Given the description of an element on the screen output the (x, y) to click on. 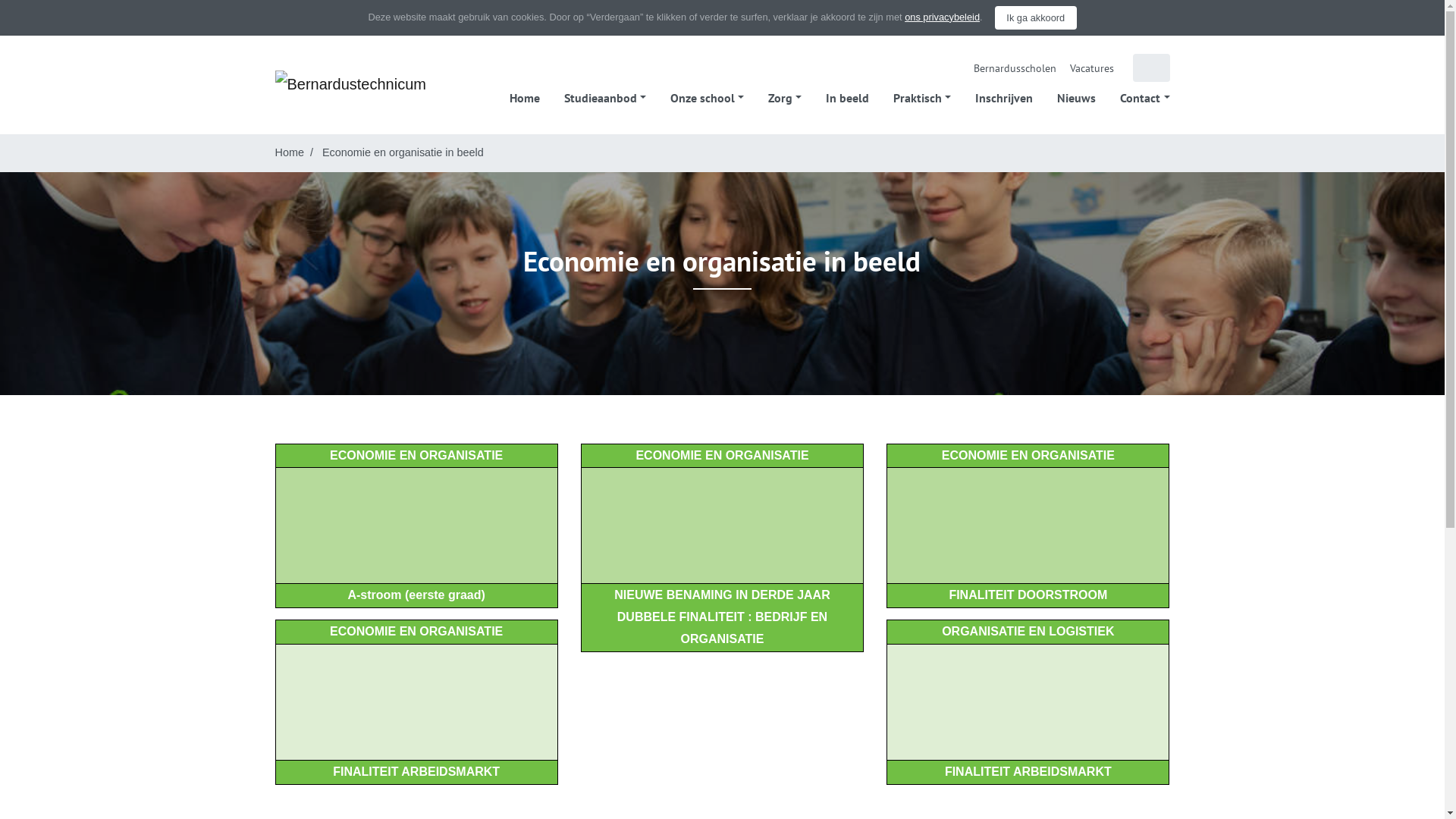
YouTube video player Element type: hover (416, 525)
Bernardustechnicum Element type: hover (349, 83)
Ik ga akkoord Element type: text (1035, 17)
Nieuws Element type: text (1076, 97)
In beeld Element type: text (847, 97)
Economie en organisatie in beeld Element type: text (402, 152)
Vacatures Element type: text (1091, 67)
Home Element type: text (288, 152)
Zorg Element type: text (784, 97)
YouTube video player Element type: hover (722, 525)
Studieaanbod Element type: text (605, 97)
YouTube video player Element type: hover (1027, 702)
Inschrijven Element type: text (1003, 97)
Bernardusscholen Element type: text (1014, 67)
Contact Element type: text (1144, 97)
Praktisch Element type: text (921, 97)
ons privacybeleid Element type: text (941, 16)
Home Element type: text (524, 97)
Onze school Element type: text (706, 97)
